Given the description of an element on the screen output the (x, y) to click on. 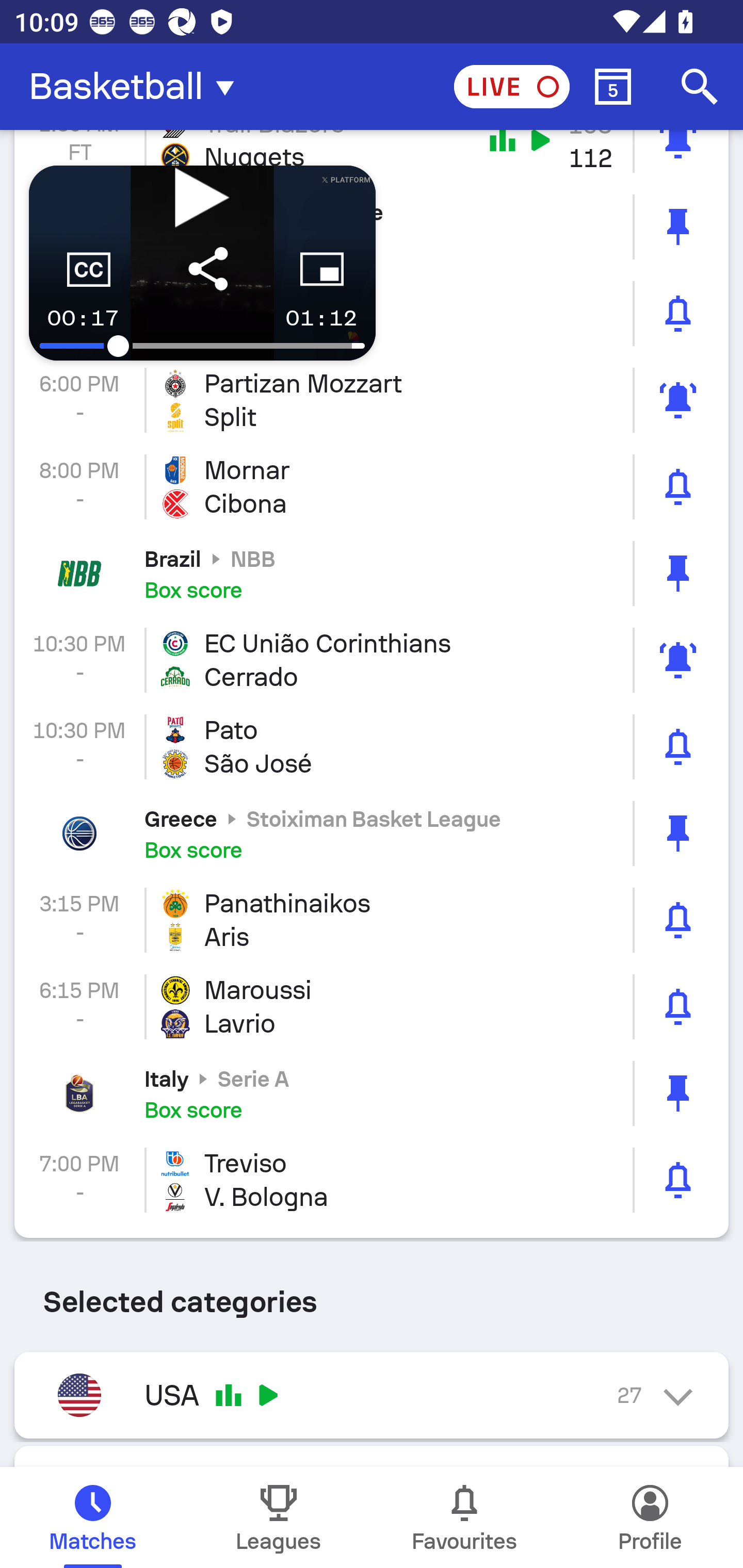
Basketball (137, 86)
Calendar (612, 86)
Search (699, 86)
6:00 PM - Partizan Mozzart Split (371, 400)
8:00 PM - Mornar Cibona (371, 486)
Brazil NBB Box score (371, 572)
10:30 PM - EC União Corinthians Cerrado (371, 660)
10:30 PM - Pato São José (371, 747)
Greece Stoiximan Basket League Box score (371, 833)
3:15 PM - Panathinaikos Aris (371, 919)
6:15 PM - Maroussi Lavrio (371, 1006)
Italy Serie A Box score (371, 1093)
7:00 PM - Treviso V. Bologna (371, 1179)
Selected categories (371, 1294)
USA 27 (371, 1394)
Leagues (278, 1517)
Favourites (464, 1517)
Profile (650, 1517)
